Given the description of an element on the screen output the (x, y) to click on. 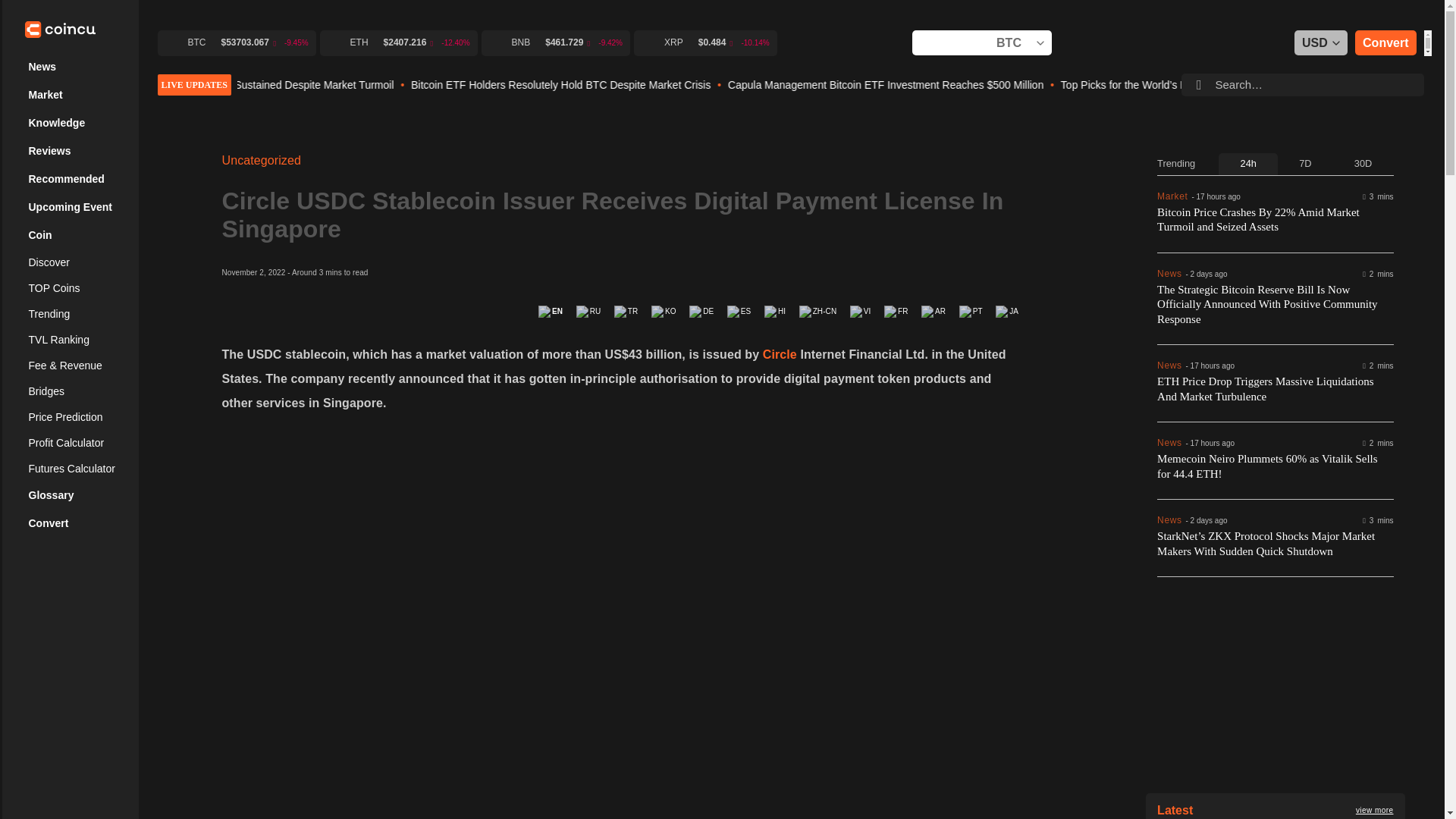
Deutsch (702, 311)
English (551, 311)
